Given the description of an element on the screen output the (x, y) to click on. 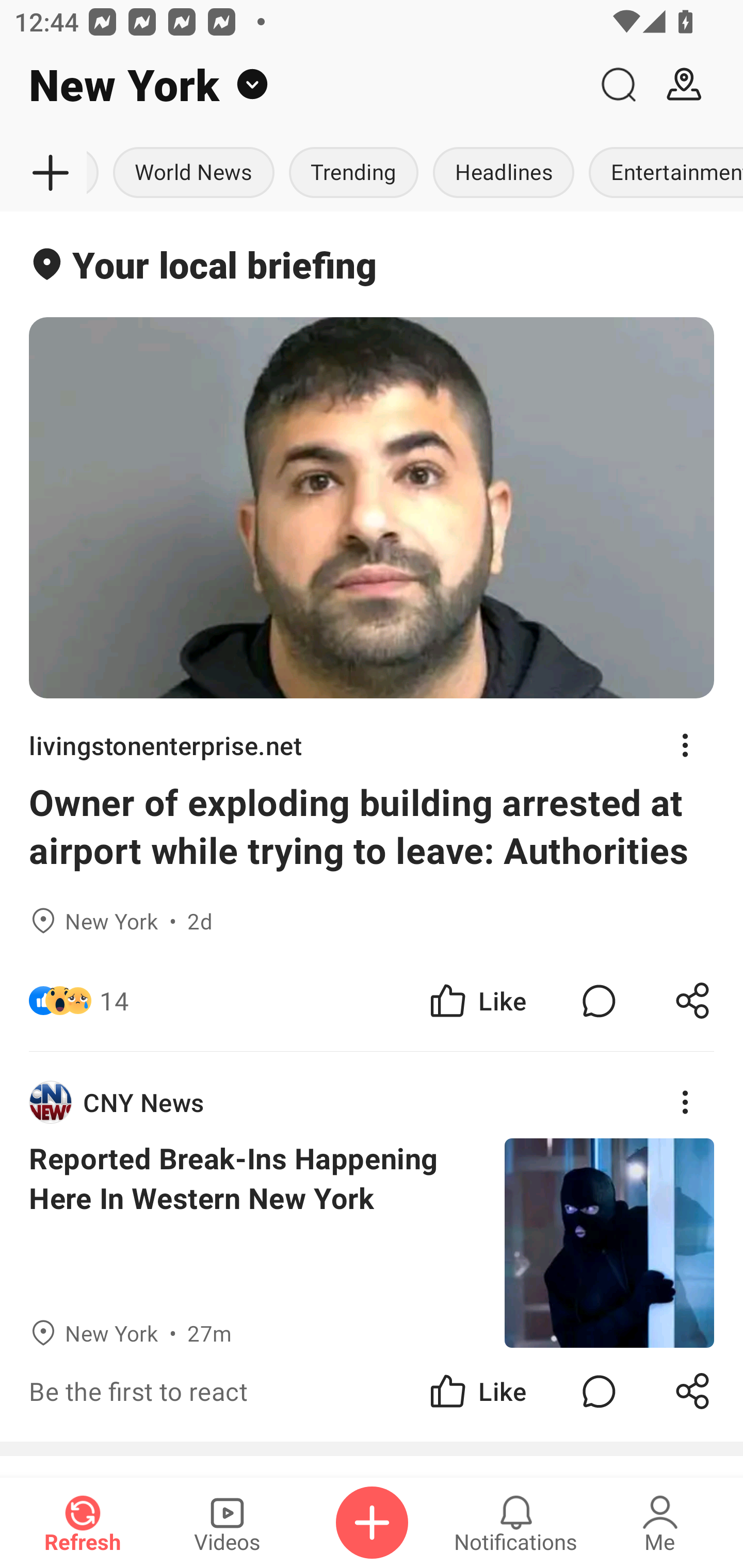
New York (292, 84)
World News (193, 172)
Trending (353, 172)
Headlines (503, 172)
Entertainment (662, 172)
14 (114, 1001)
Like (476, 1001)
Be the first to react (244, 1391)
Like (476, 1391)
Videos (227, 1522)
Notifications (516, 1522)
Me (659, 1522)
